Given the description of an element on the screen output the (x, y) to click on. 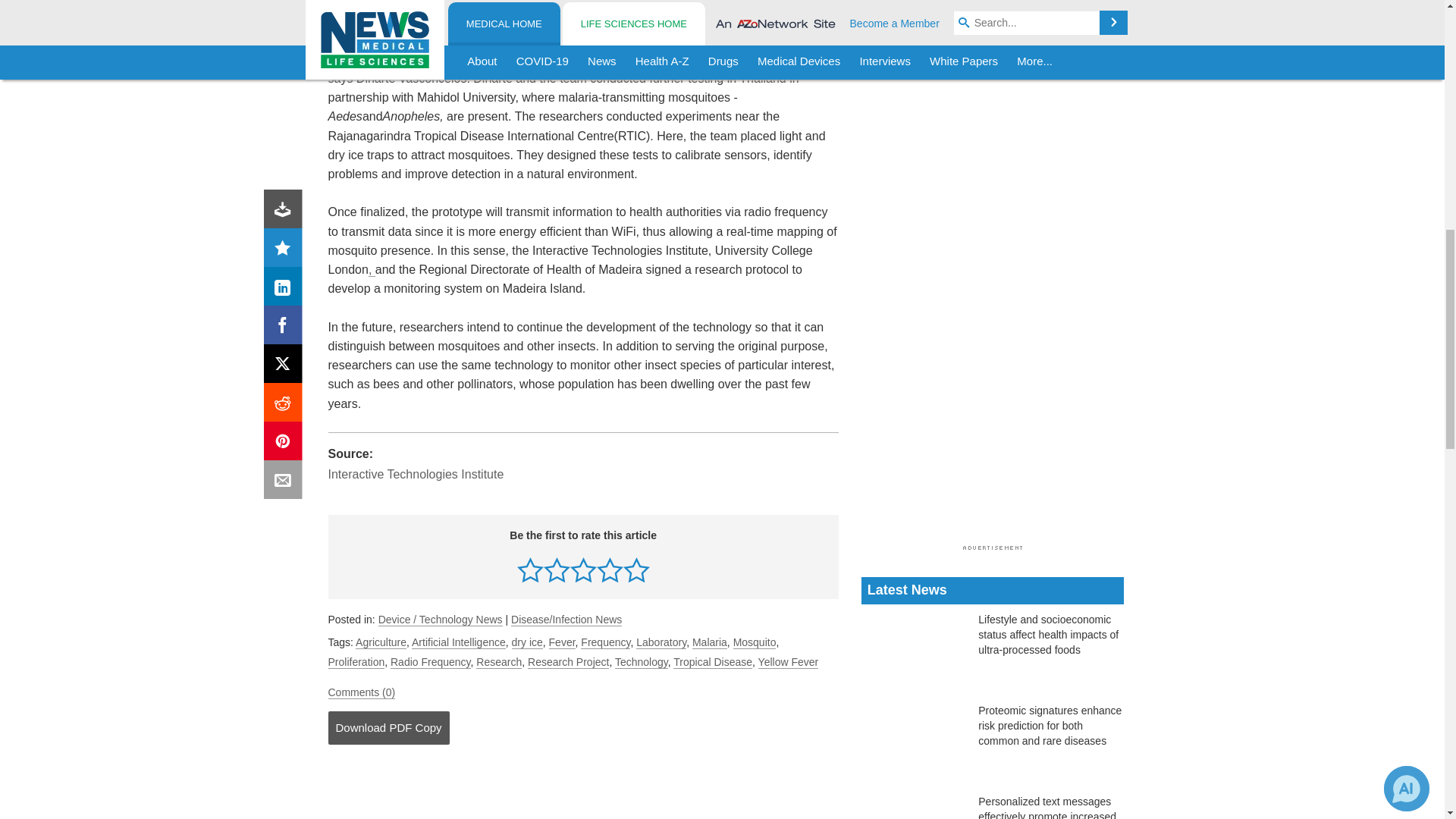
Rate this 5 stars out of 5 (636, 569)
Rate this 4 stars out of 5 (609, 569)
